Given the description of an element on the screen output the (x, y) to click on. 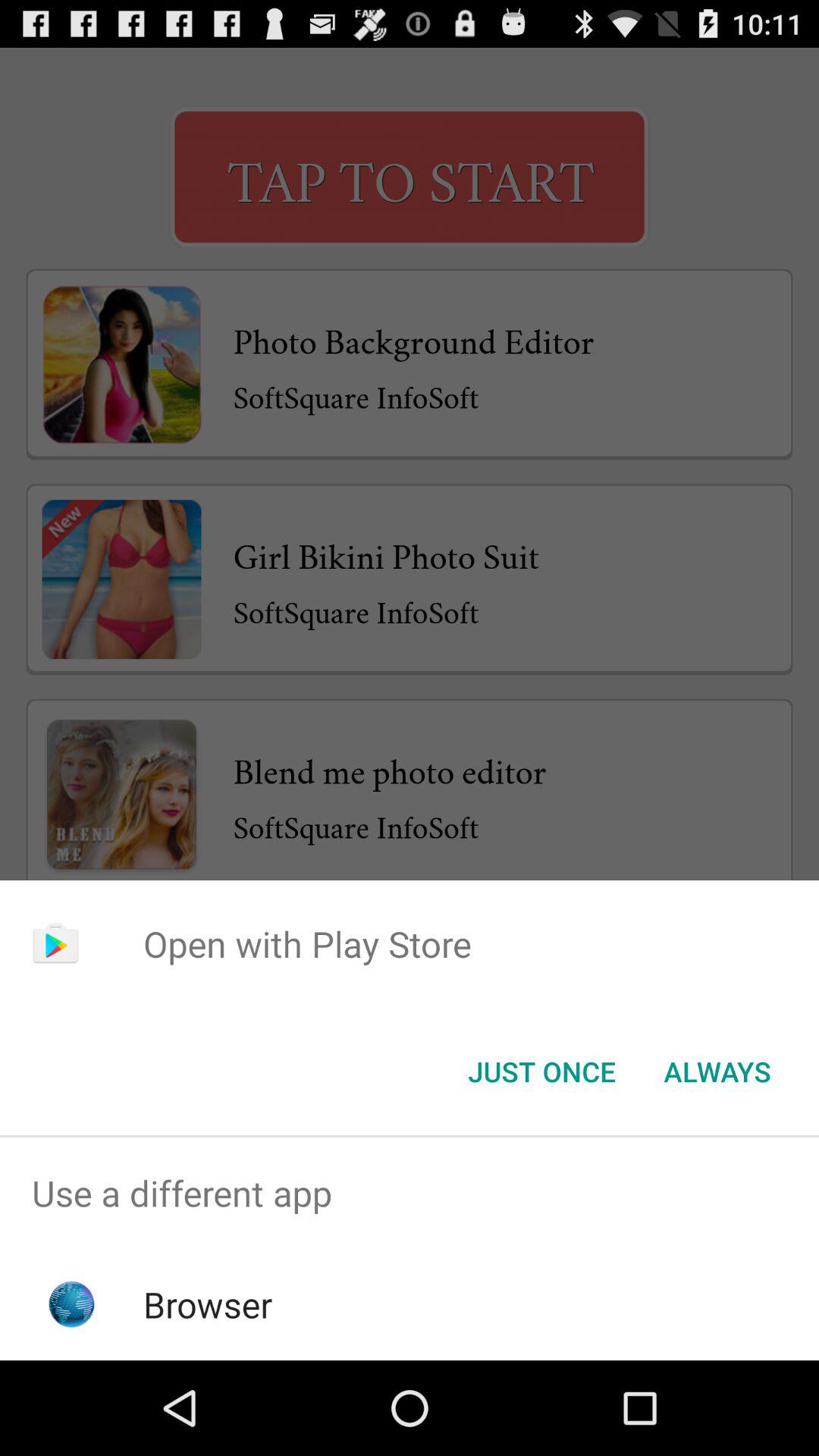
scroll to always item (717, 1071)
